Given the description of an element on the screen output the (x, y) to click on. 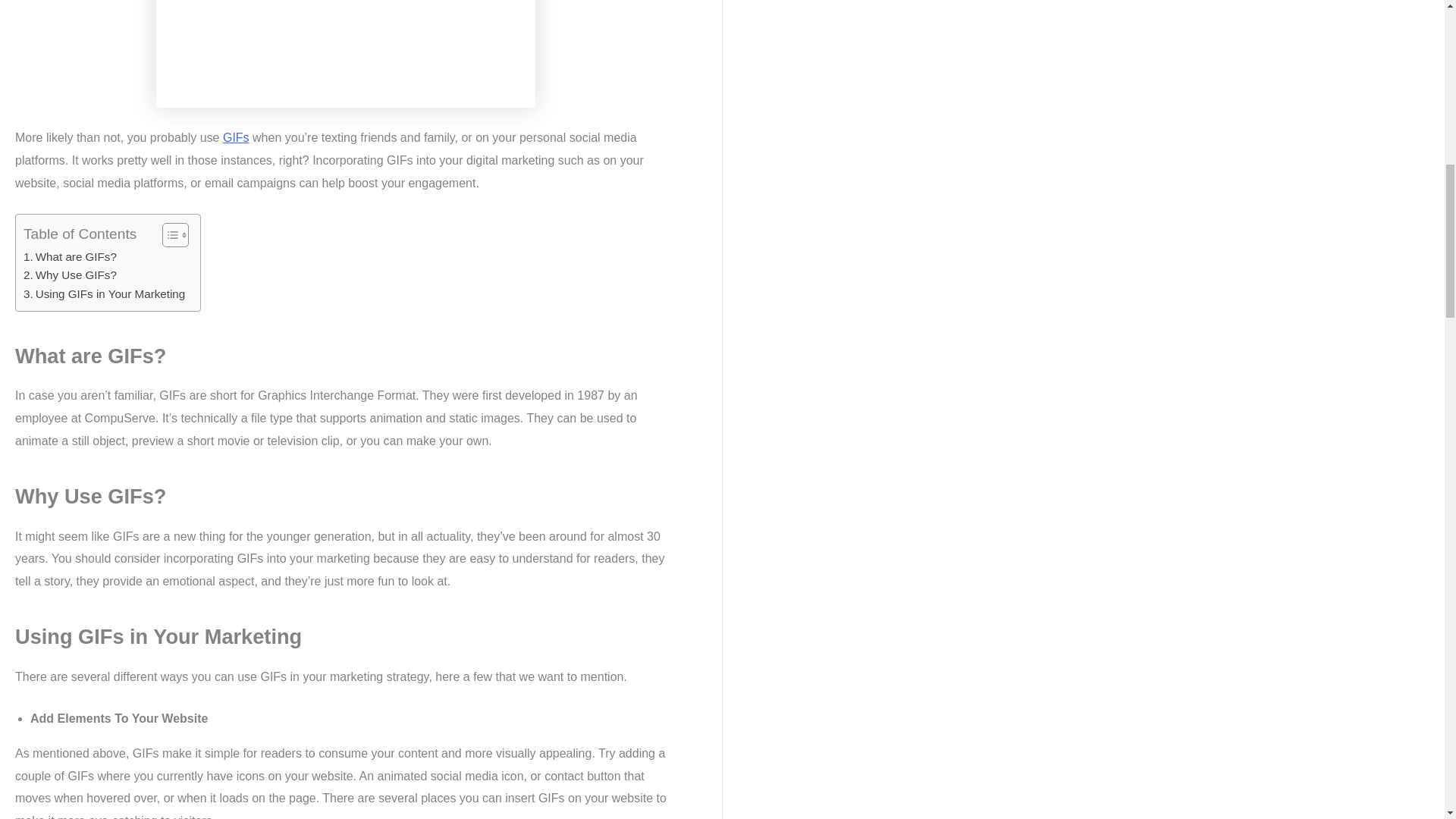
Why Use GIFs? (69, 275)
GIFs (235, 137)
Using GIFs in Your Marketing (103, 294)
Why Use GIFs? (69, 275)
Using GIFs in Your Marketing (103, 294)
What are GIFs? (69, 257)
What are GIFs? (69, 257)
